Given the description of an element on the screen output the (x, y) to click on. 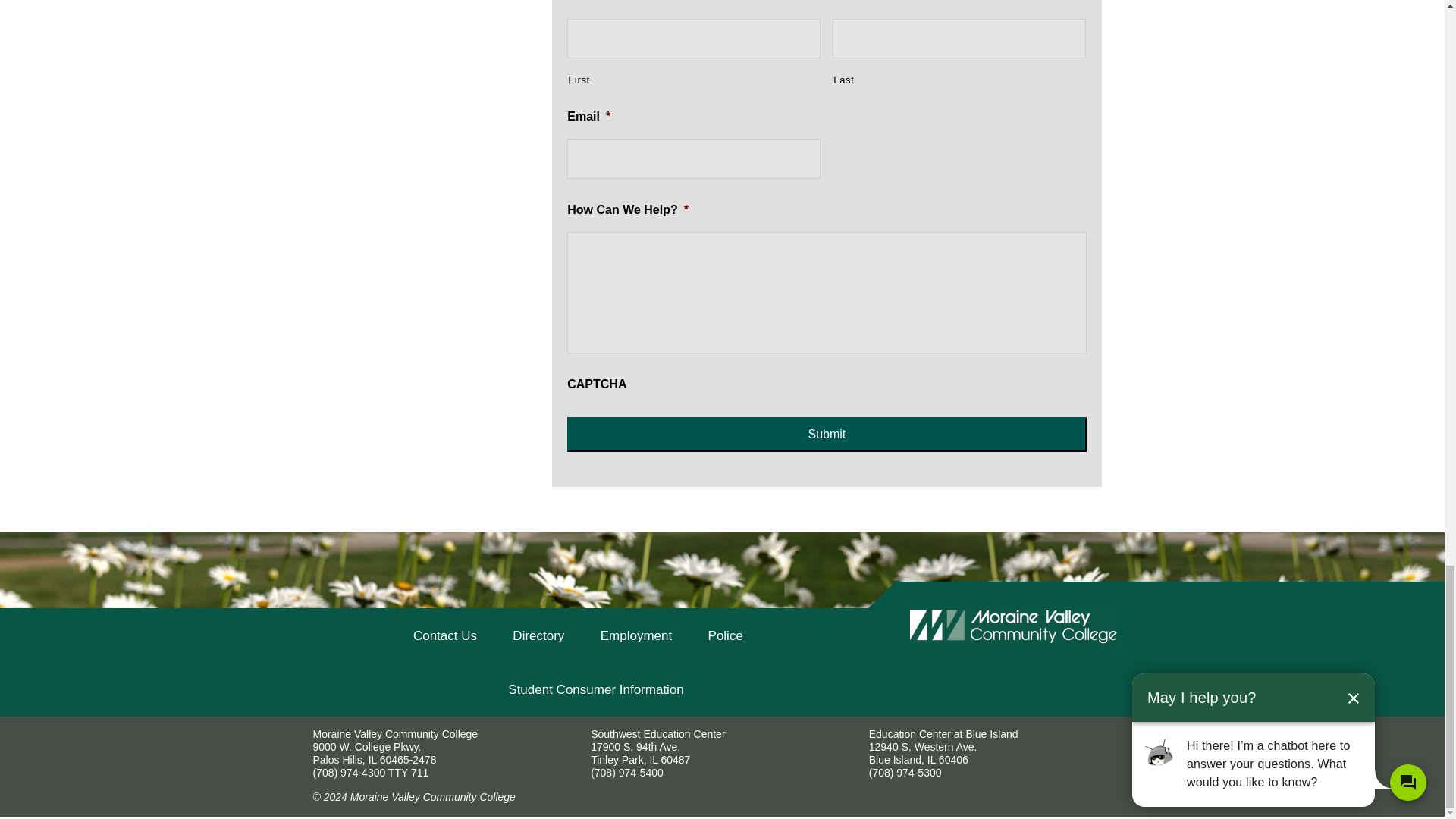
Submit (826, 434)
